Given the description of an element on the screen output the (x, y) to click on. 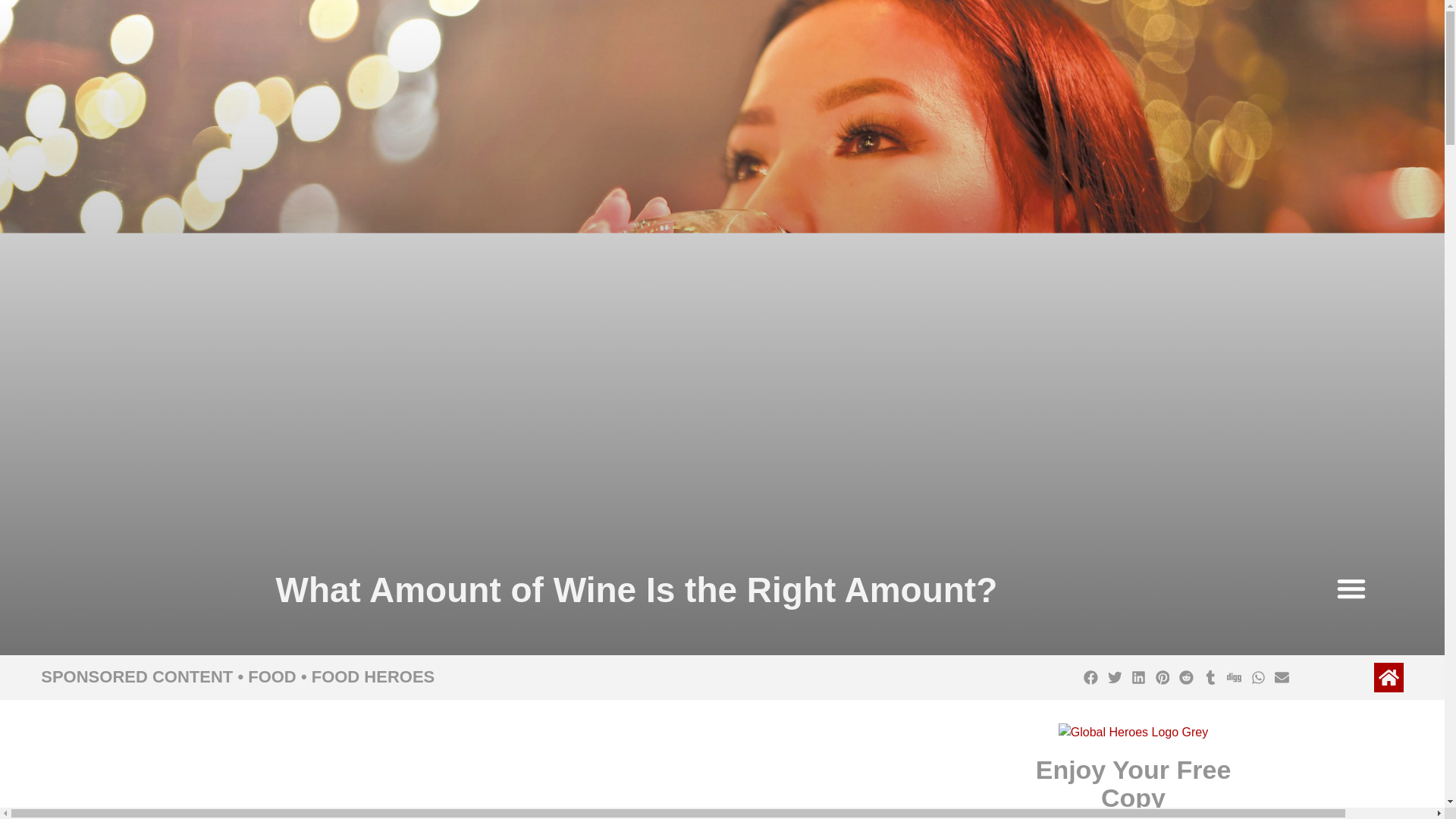
What Amount of Wine Is the Right Amount? (599, 770)
FOOD HEROES (373, 676)
Global Heroes Logo Grey (1133, 732)
FOOD (272, 676)
